Given the description of an element on the screen output the (x, y) to click on. 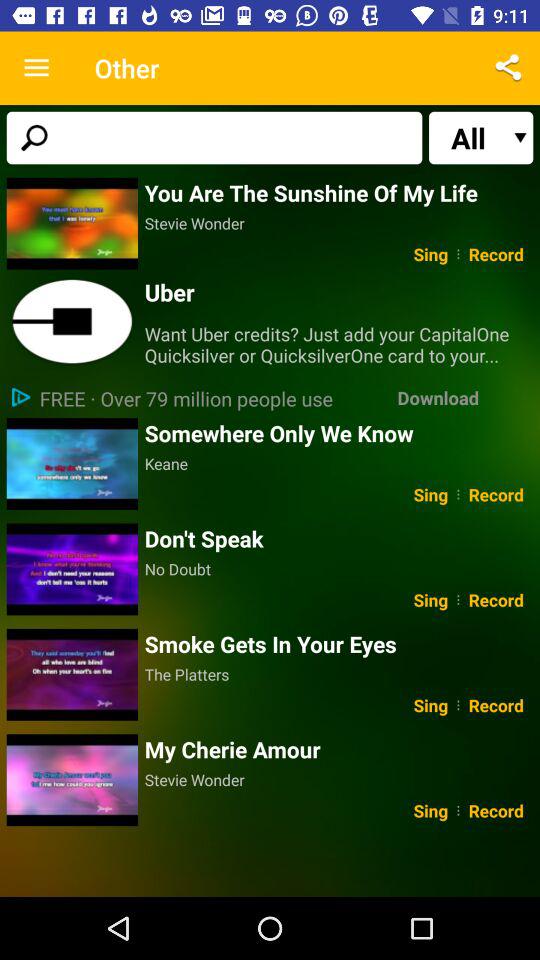
turn on the item above free over 79 (72, 322)
